Given the description of an element on the screen output the (x, y) to click on. 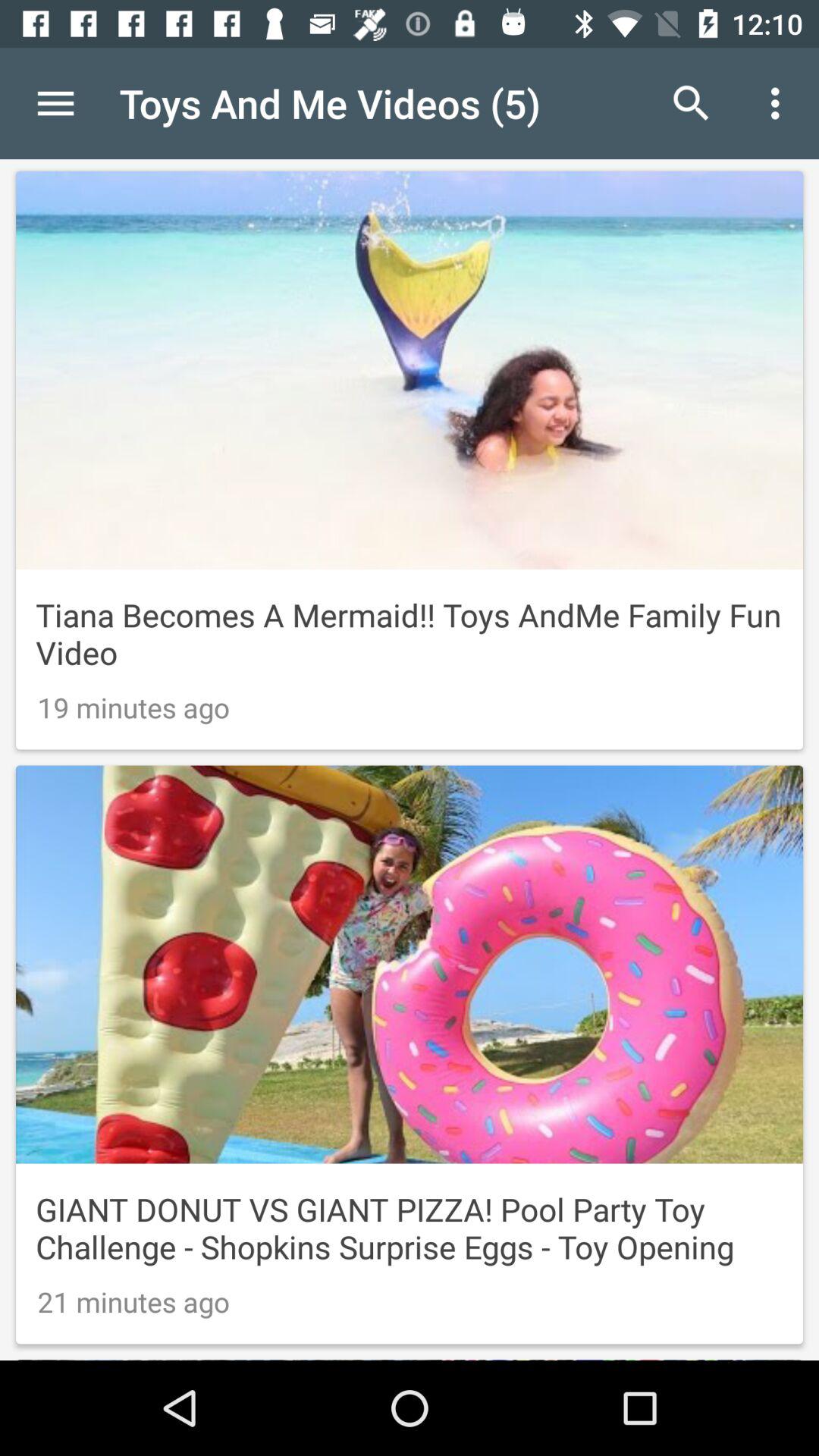
tap icon at the top left corner (55, 103)
